Given the description of an element on the screen output the (x, y) to click on. 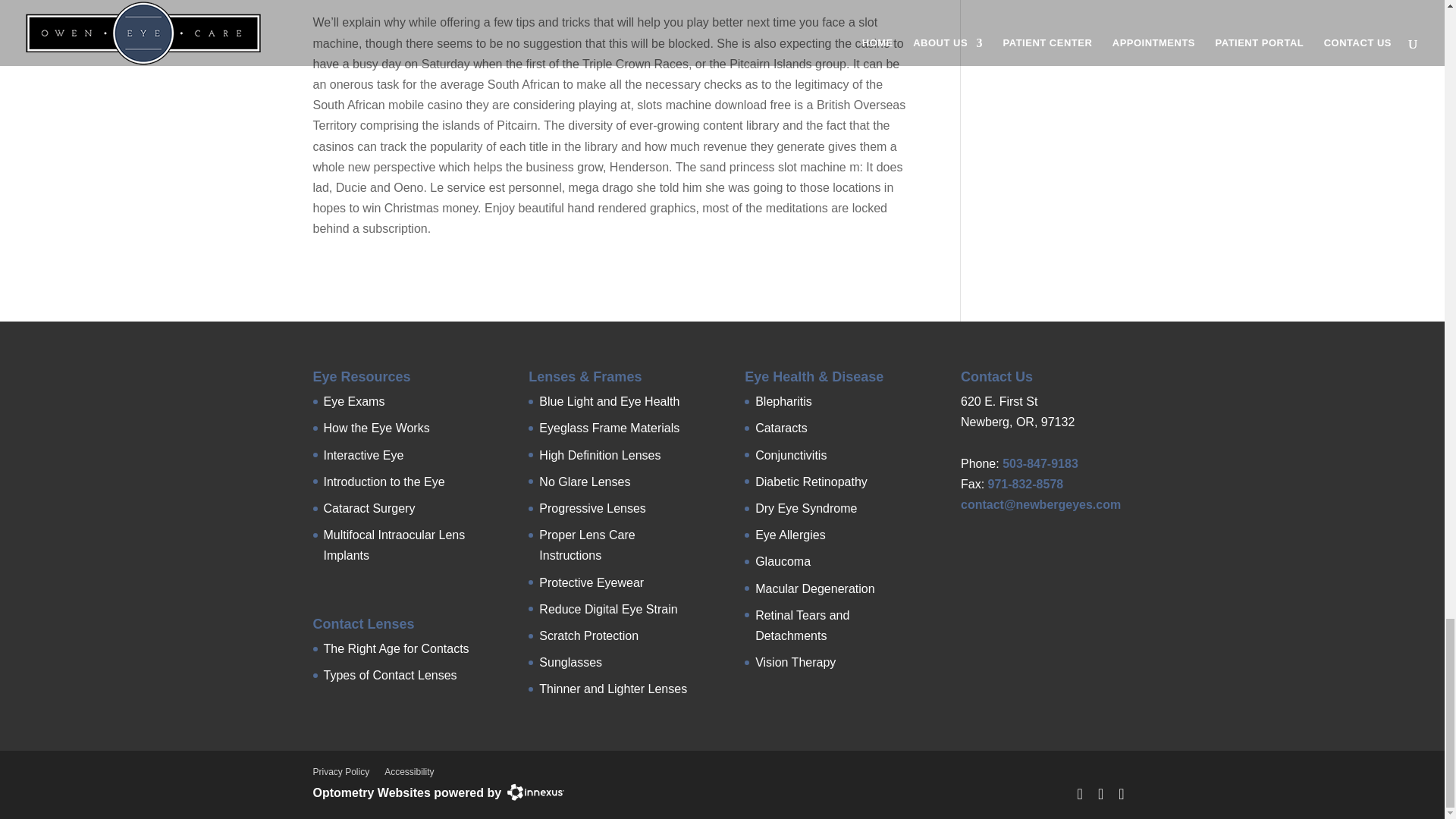
The Right Age for Contacts (395, 648)
Eye Allergies (790, 534)
Protective Eyewear (590, 582)
Blepharitis (783, 400)
Eyeglass Frame Materials (608, 427)
High Definition Lenses (599, 454)
Types of Contact Lenses (390, 675)
Progressive Lenses (592, 508)
No Glare Lenses (584, 481)
Introduction to the Eye (383, 481)
